Given the description of an element on the screen output the (x, y) to click on. 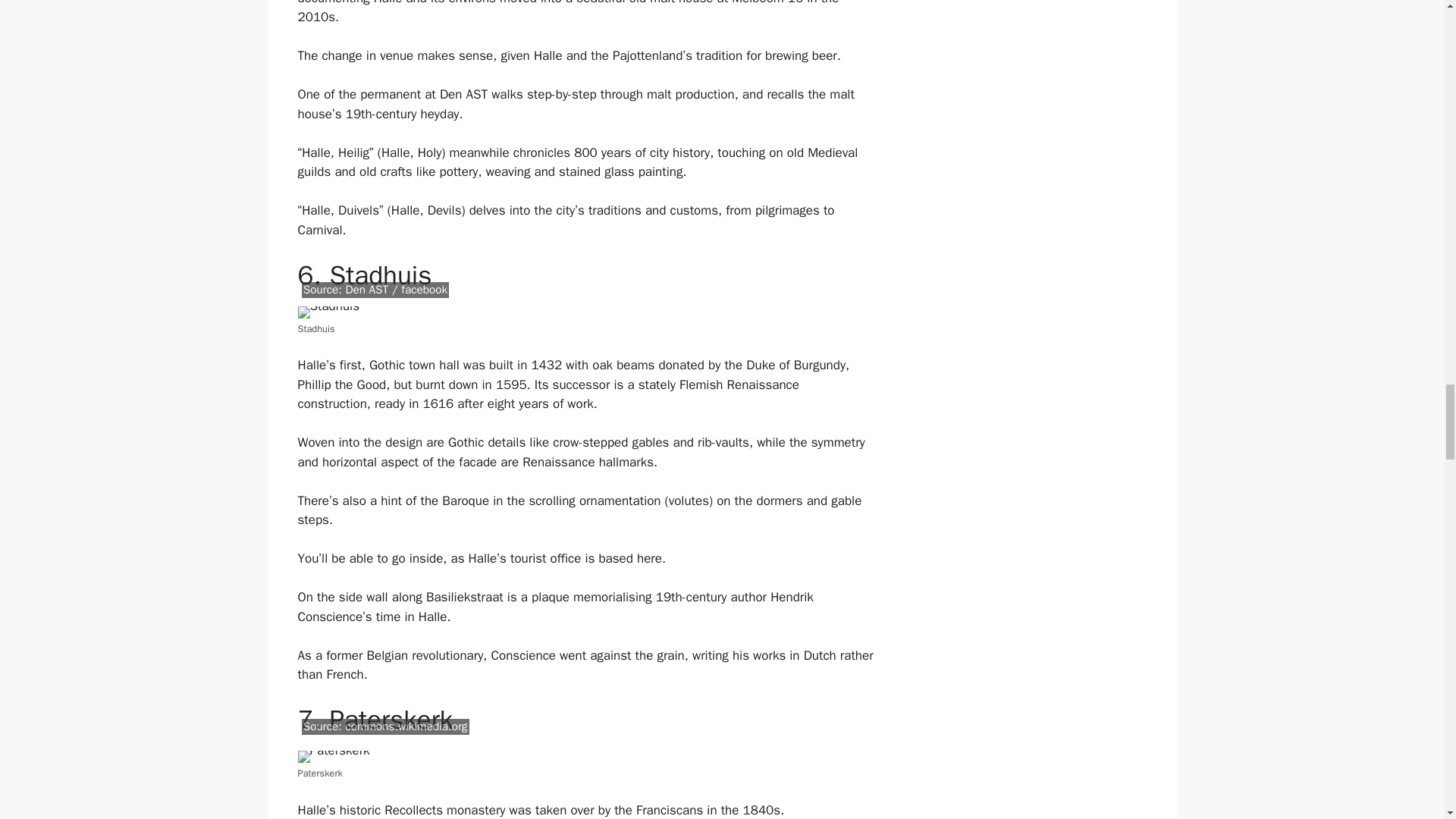
commons.wikimedia.org (406, 726)
